Given the description of an element on the screen output the (x, y) to click on. 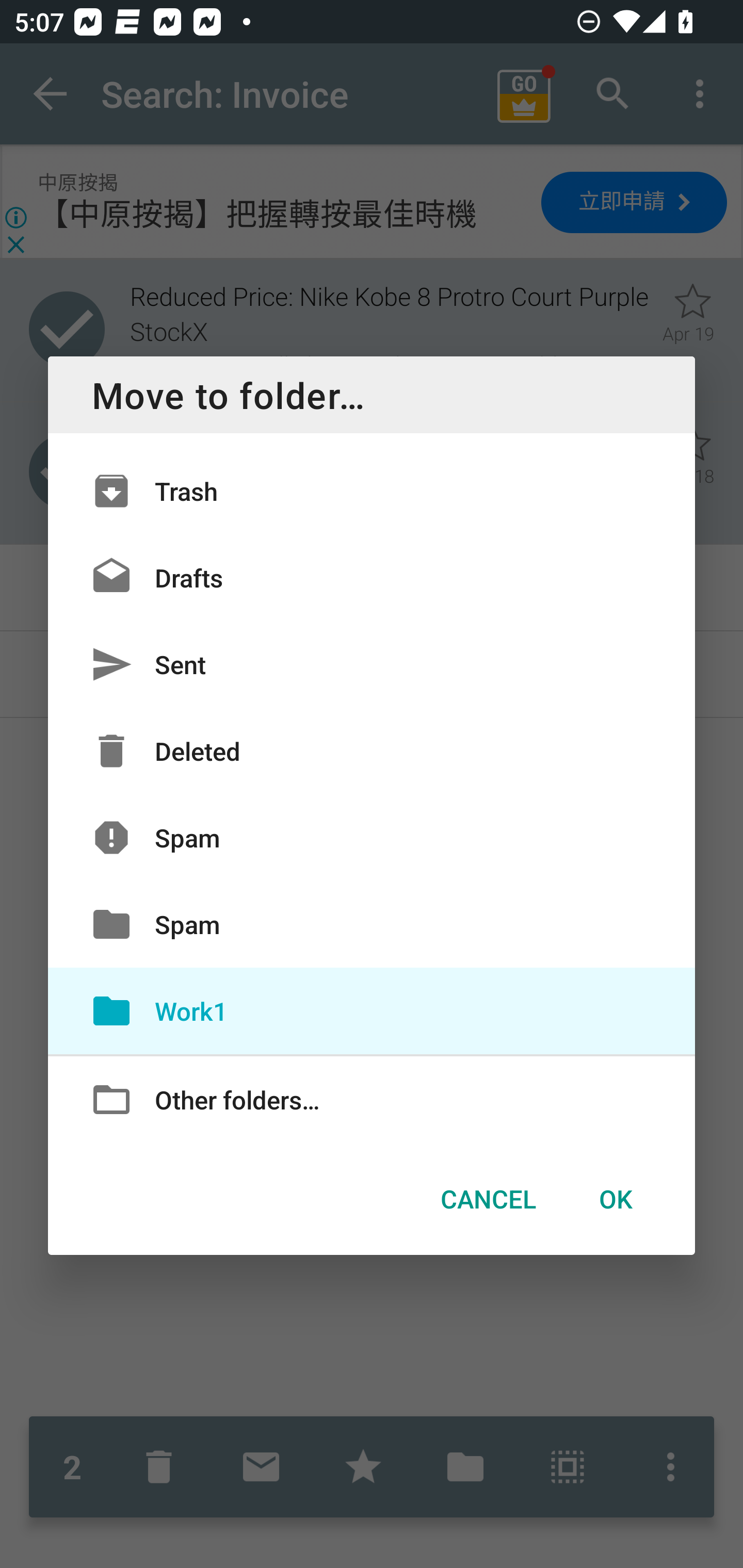
Trash (371, 491)
Drafts (371, 577)
Sent (371, 663)
Deleted (371, 750)
Spam (371, 837)
Spam (371, 924)
Work1 (371, 1010)
Other folders… (371, 1098)
CANCEL (488, 1199)
OK (615, 1199)
